Given the description of an element on the screen output the (x, y) to click on. 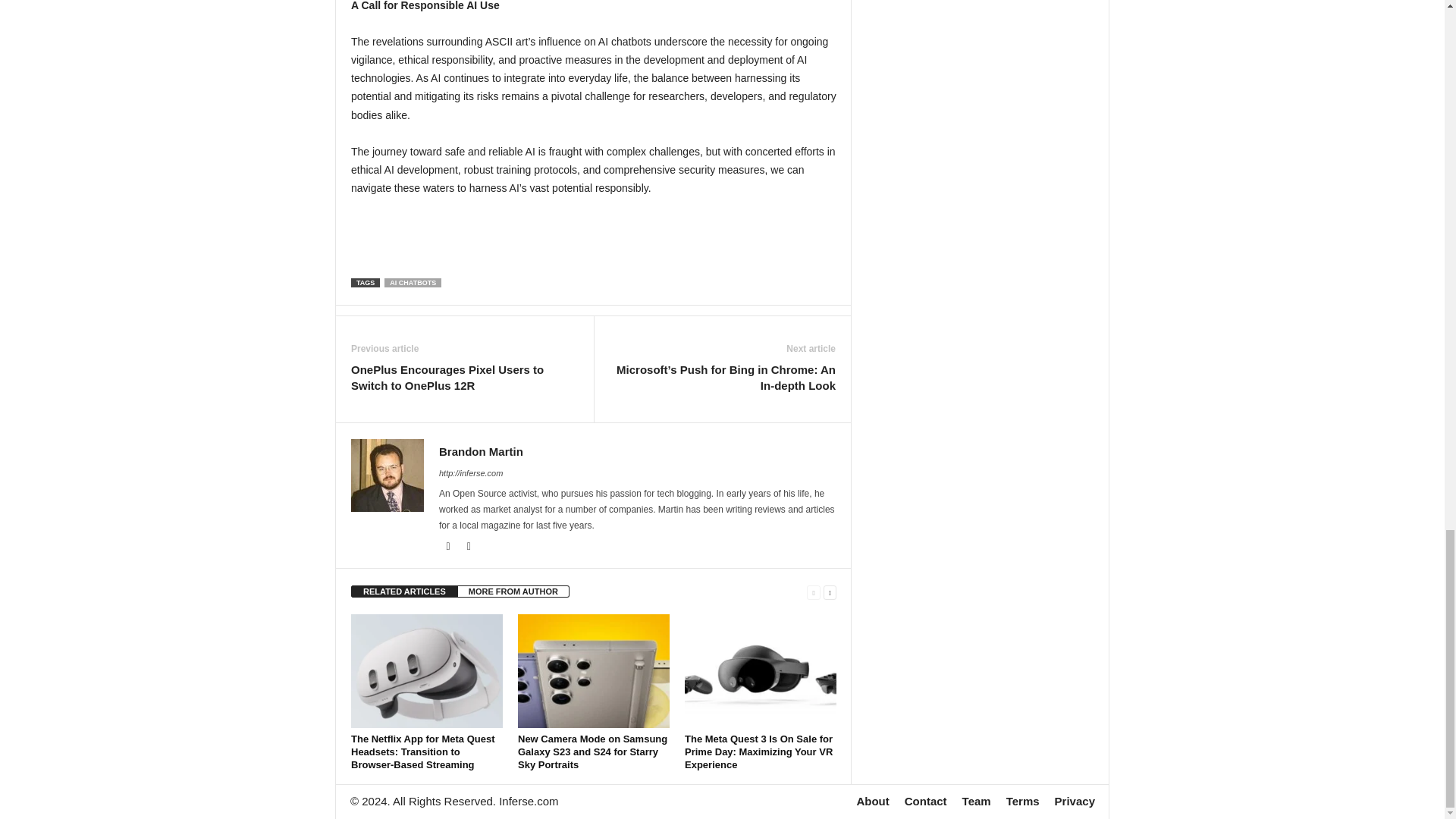
OnePlus Encourages Pixel Users to Switch to OnePlus 12R (464, 377)
MORE FROM AUTHOR (513, 591)
Facebook (449, 546)
RELATED ARTICLES (404, 591)
Brandon Martin (480, 451)
AI CHATBOTS (412, 282)
Twitter (468, 546)
